Given the description of an element on the screen output the (x, y) to click on. 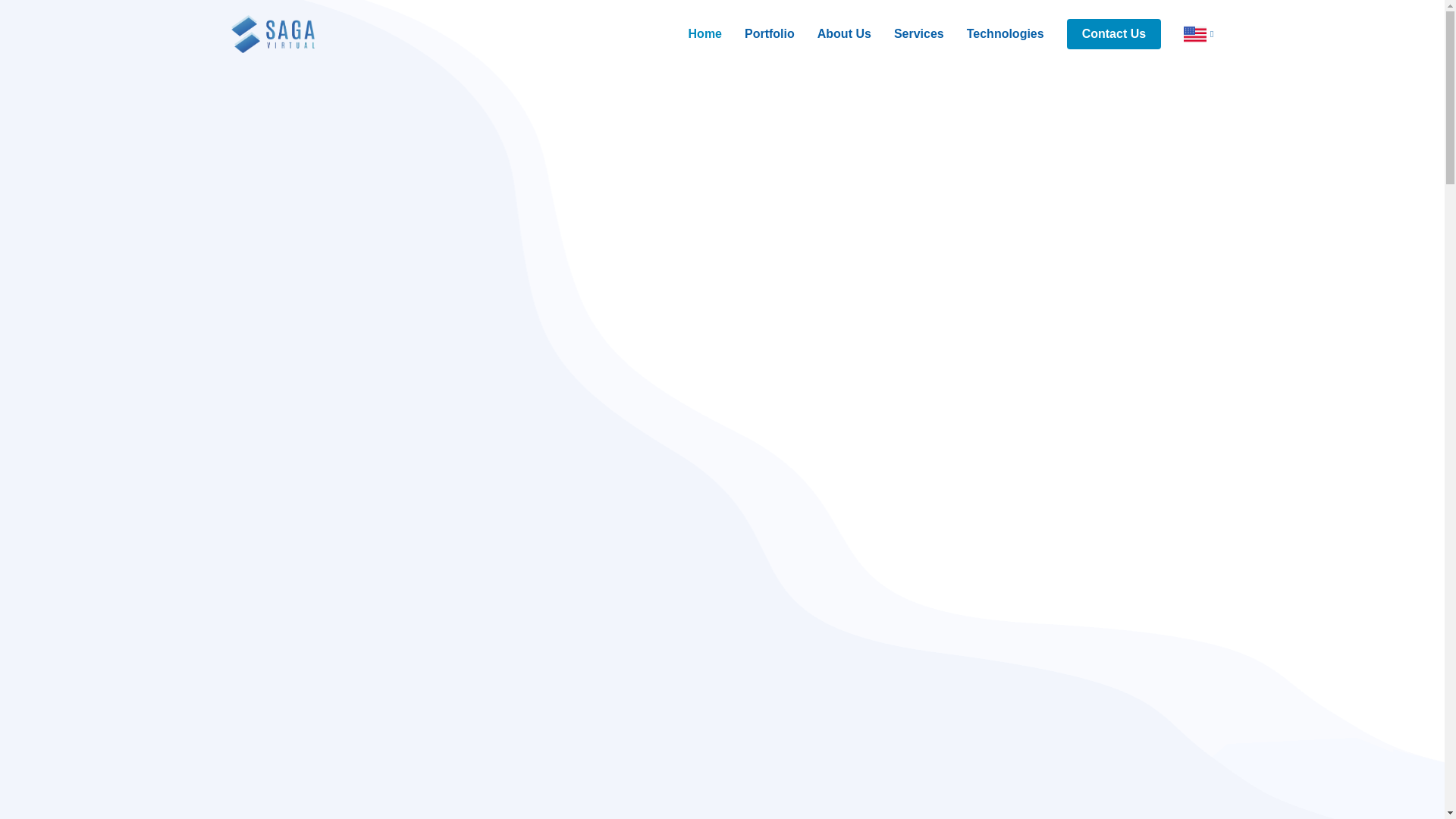
About Us (832, 33)
Portfolio (758, 33)
Contact Us (1113, 33)
Portfolio (758, 33)
About Us (832, 33)
Home (693, 33)
Services (906, 33)
Services (906, 33)
Contact Us (1113, 33)
Home (693, 33)
